Given the description of an element on the screen output the (x, y) to click on. 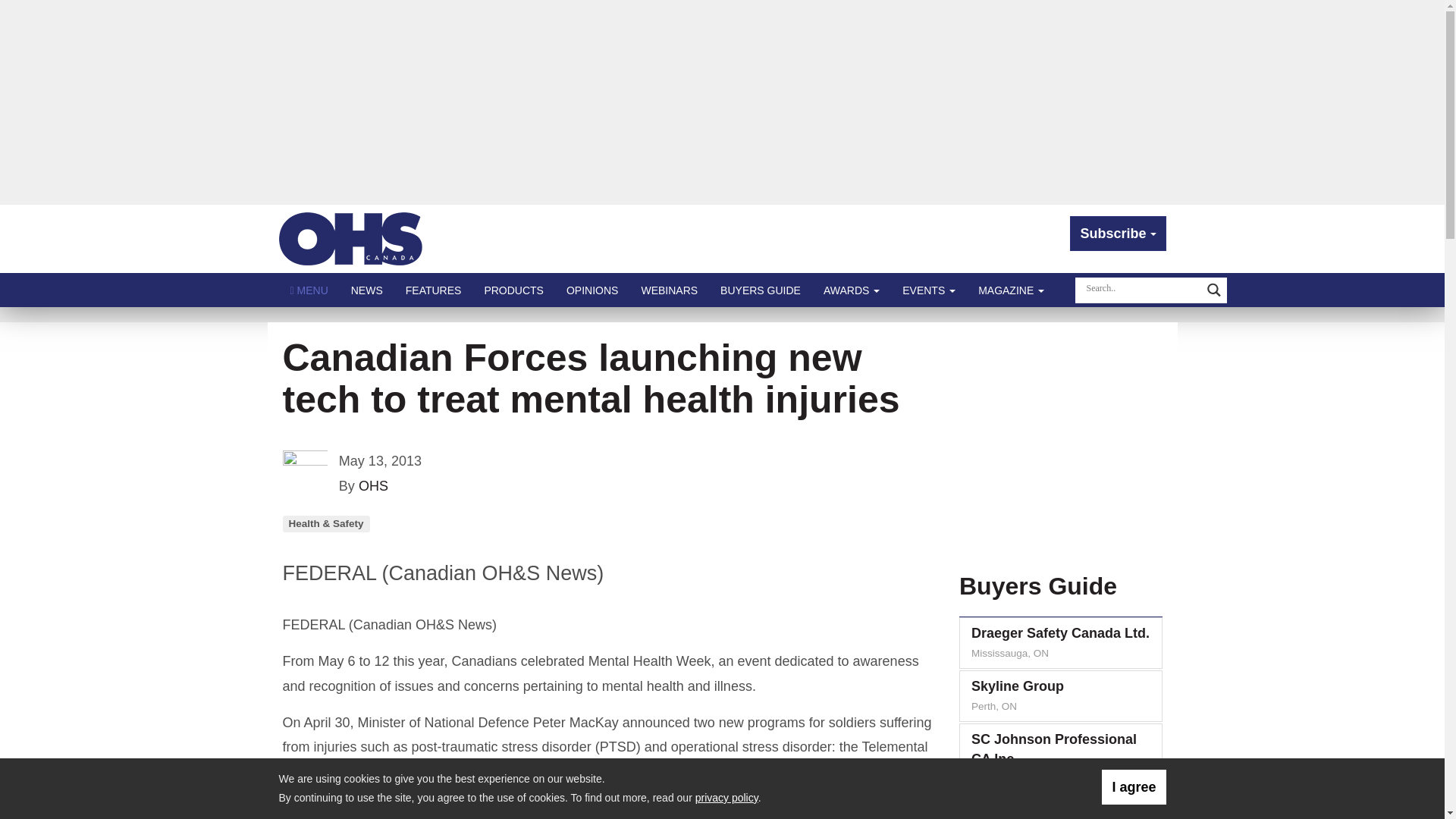
AWARDS (851, 289)
NEWS (366, 289)
EVENTS (928, 289)
3rd party ad content (1057, 442)
MAGAZINE (1010, 289)
Subscribe (1118, 233)
BUYERS GUIDE (760, 289)
FEATURES (433, 289)
PRODUCTS (512, 289)
MENU (309, 289)
WEBINARS (668, 289)
OPINIONS (591, 289)
Click to show site navigation (309, 289)
OHS Canada Magazine (351, 237)
